Given the description of an element on the screen output the (x, y) to click on. 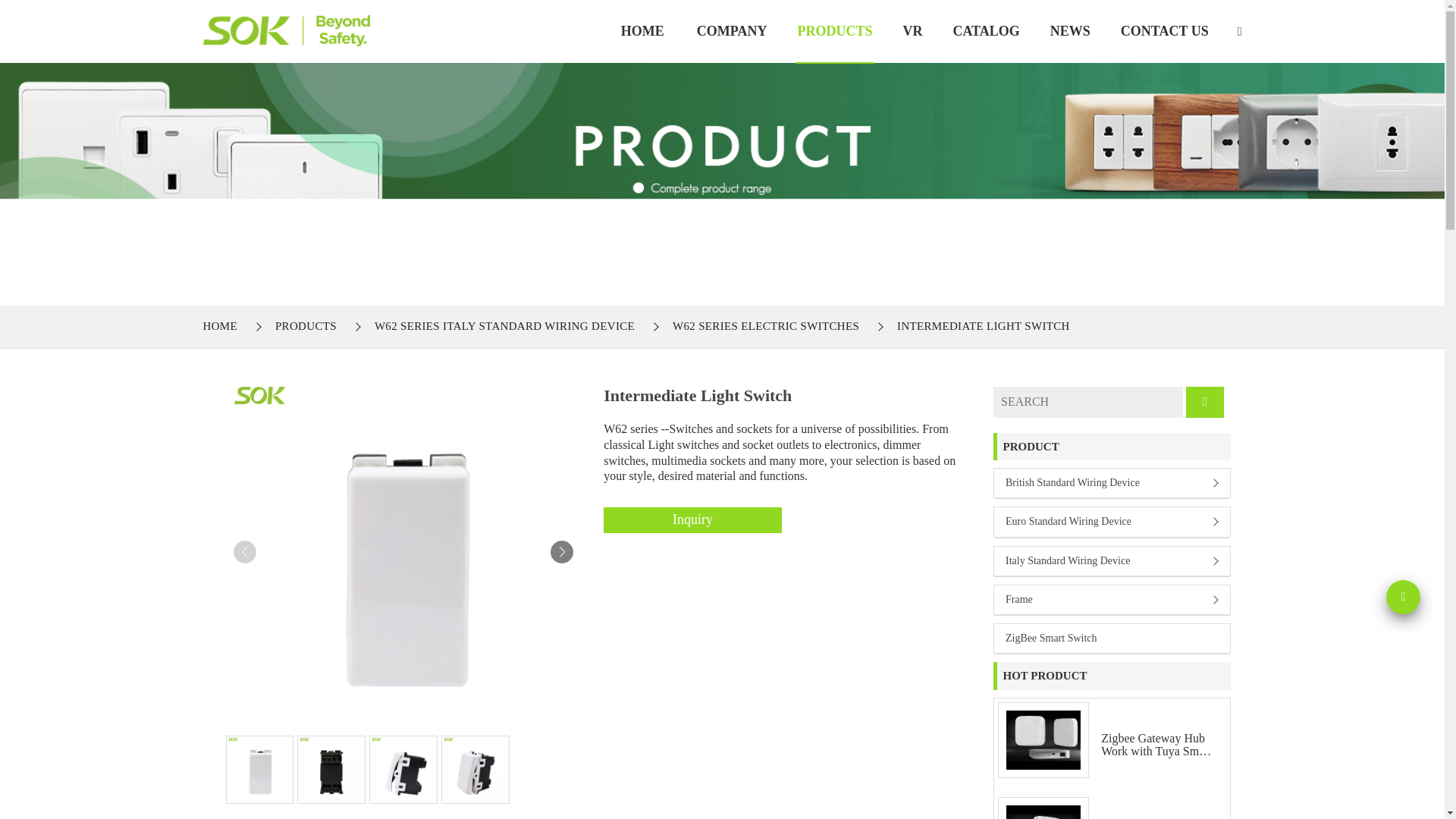
PRODUCTS (833, 31)
COMPANY (732, 31)
VR (911, 31)
PRODUCTS (305, 326)
HOME (223, 326)
CATALOG (985, 31)
NEWS (1070, 31)
Products (833, 31)
Intermediate Light Switch-W62 Series Electric Switches (286, 29)
Company (732, 31)
